Given the description of an element on the screen output the (x, y) to click on. 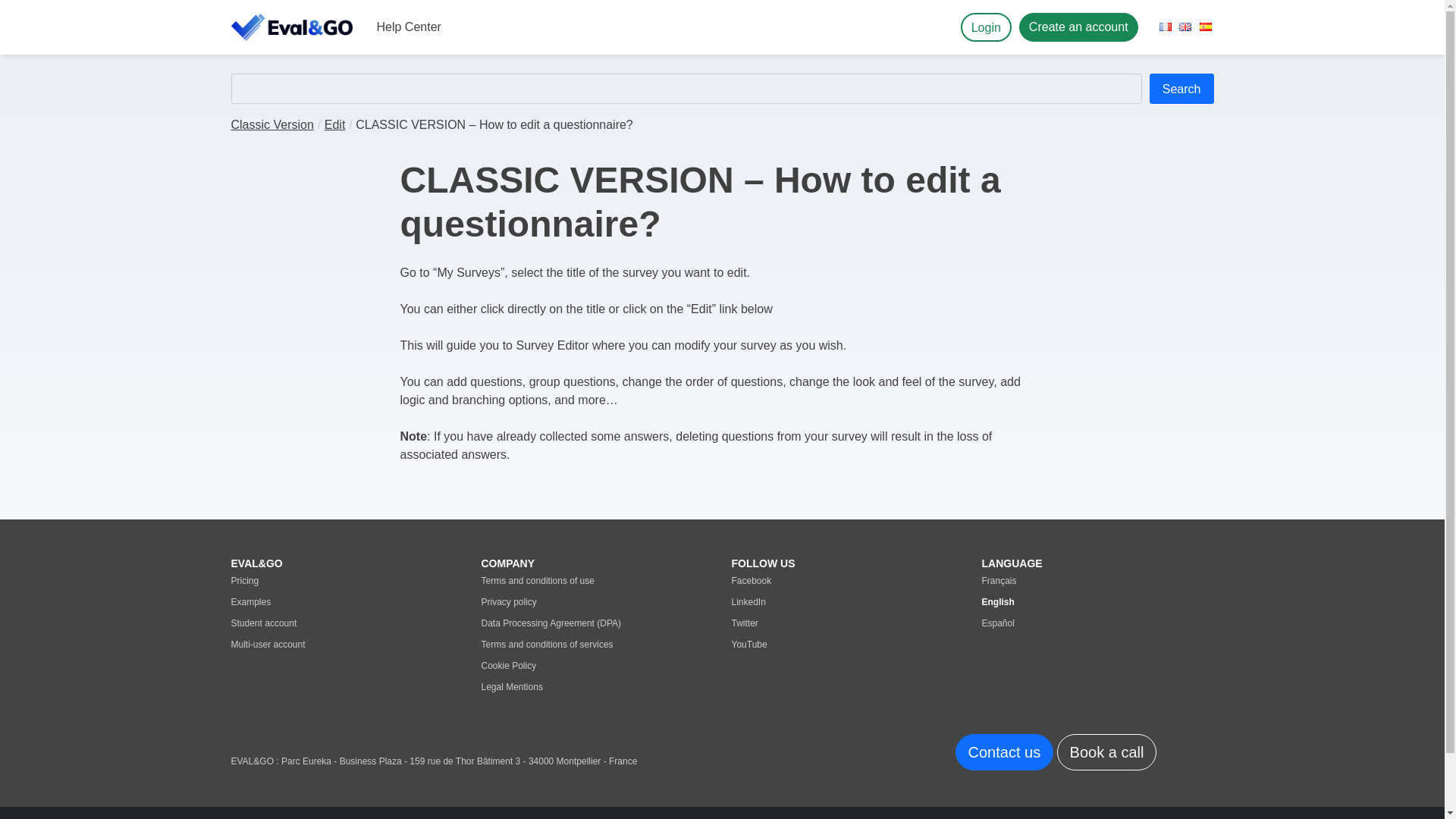
Examples (346, 601)
Twitter (846, 622)
Terms and conditions of services (596, 644)
Terms and conditions of use (596, 580)
Book a call (1107, 751)
Privacy policy (596, 601)
Legal Mentions (596, 686)
Search (1182, 88)
Pricing (346, 580)
Help Center (408, 27)
